Given the description of an element on the screen output the (x, y) to click on. 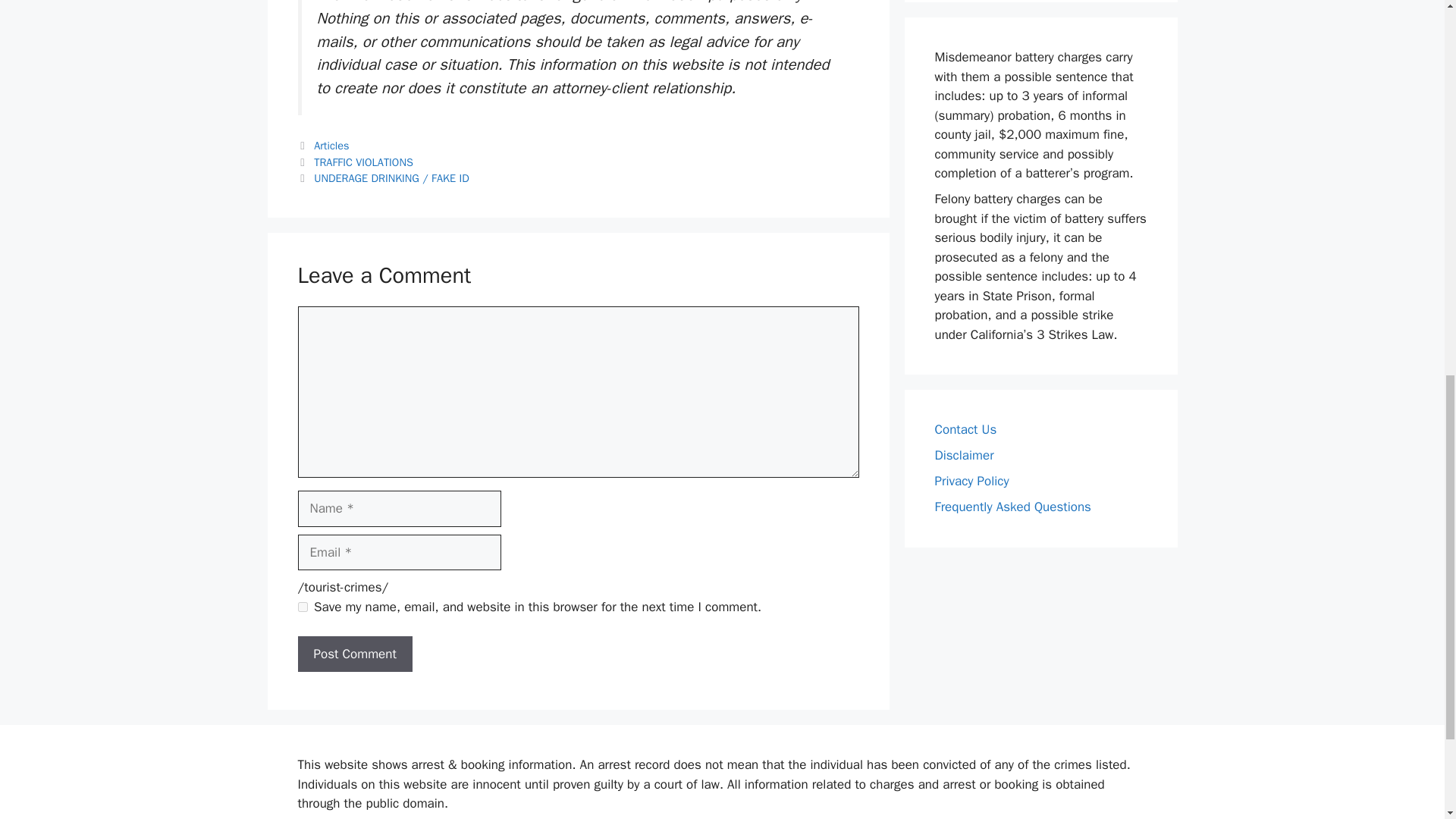
Articles (331, 145)
Disclaimer (963, 455)
Post Comment (354, 654)
Contact Us (964, 429)
Post Comment (354, 654)
Previous (354, 161)
Next (382, 178)
TRAFFIC VIOLATIONS (363, 161)
yes (302, 606)
Privacy Policy (971, 480)
